Given the description of an element on the screen output the (x, y) to click on. 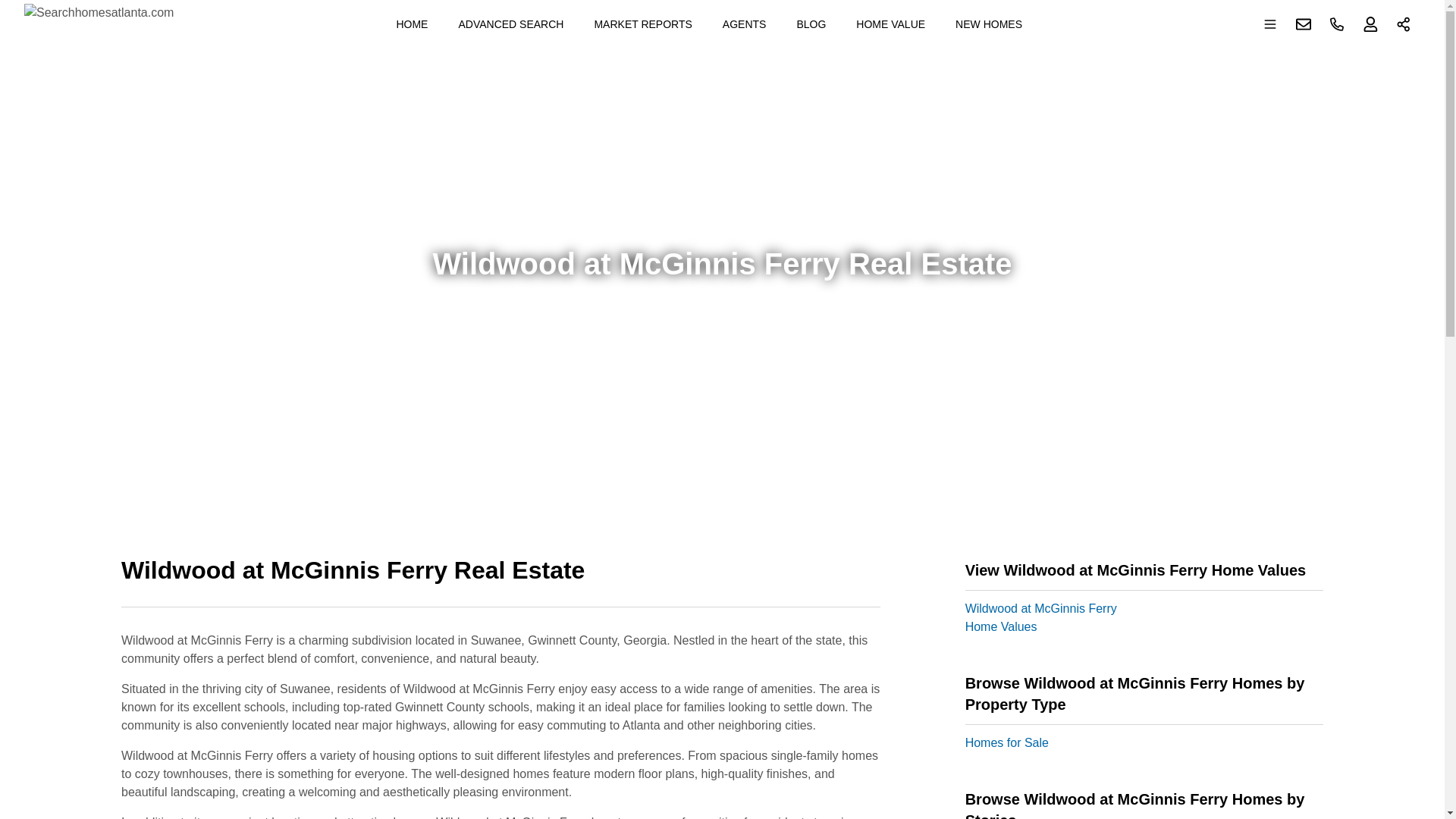
NEW HOMES (988, 24)
HOME VALUE (890, 24)
Sign up or Sign in (1370, 23)
Contact us (1303, 23)
Share (1404, 23)
Searchhomesatlanta.com (98, 24)
MARKET REPORTS (642, 24)
AGENTS (744, 24)
Phone number (1337, 23)
Wildwood at McGinnis Ferry Real Estate (500, 579)
HOME (411, 24)
BLOG (810, 24)
ADVANCED SEARCH (510, 24)
Open main menu (1270, 23)
